Given the description of an element on the screen output the (x, y) to click on. 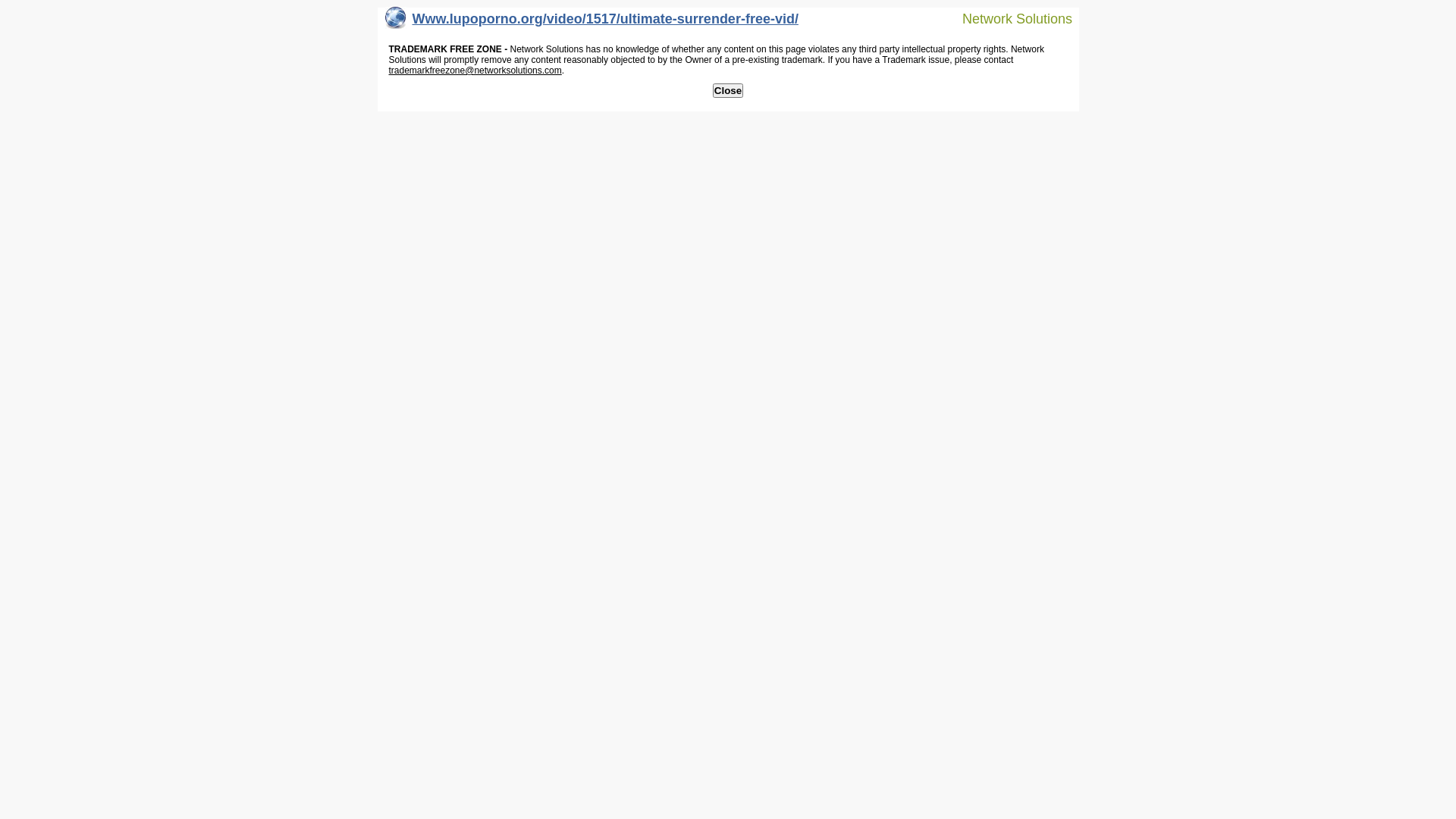
Network Solutions Element type: text (1007, 17)
Close Element type: text (727, 90)
Www.lupoporno.org/video/1517/ultimate-surrender-free-vid/ Element type: text (591, 21)
trademarkfreezone@networksolutions.com Element type: text (474, 70)
